Given the description of an element on the screen output the (x, y) to click on. 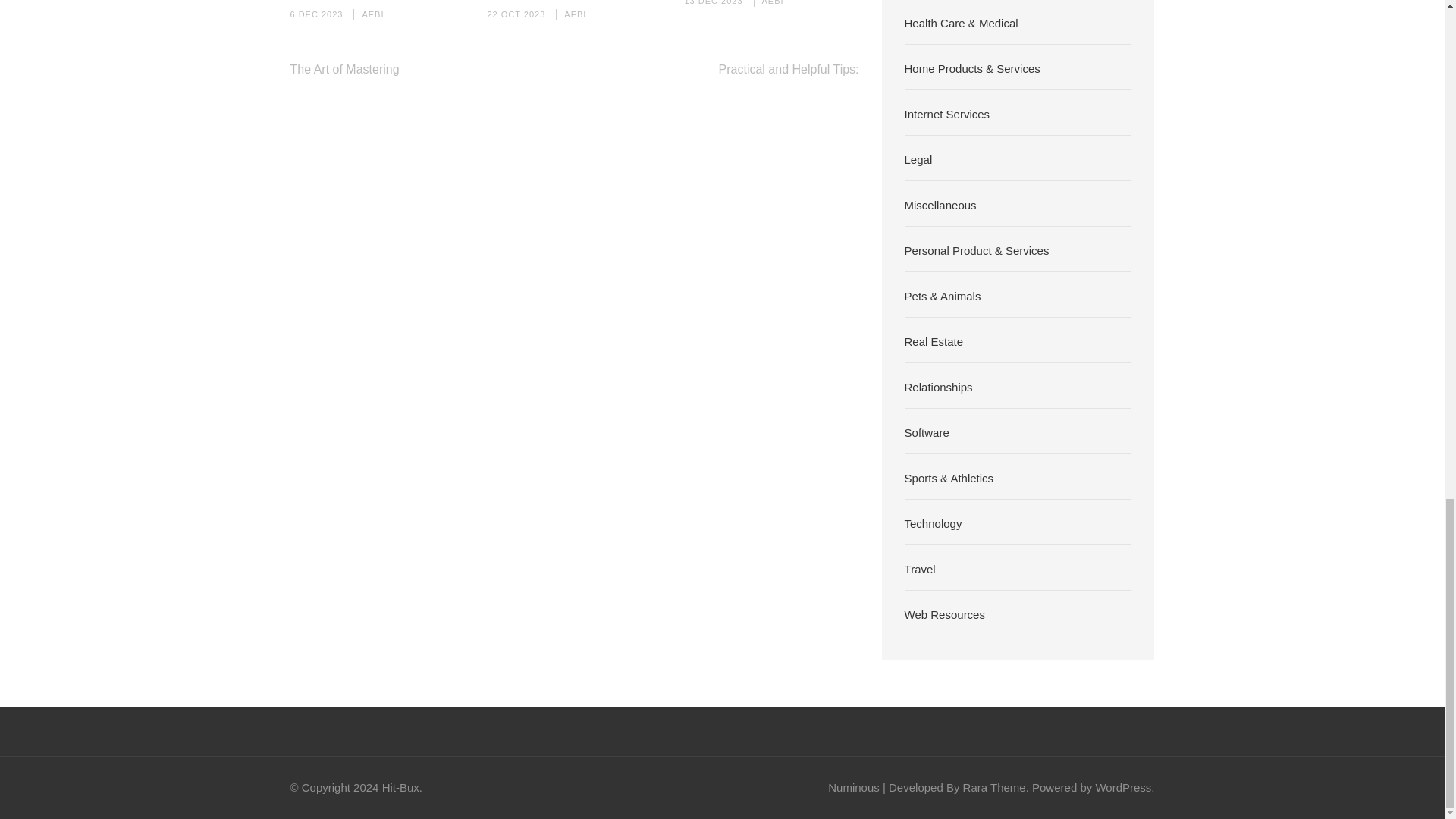
AEBI (772, 2)
Practical and Helpful Tips: (789, 69)
13 DEC 2023 (713, 2)
22 OCT 2023 (515, 13)
AEBI (575, 13)
AEBI (372, 13)
6 DEC 2023 (315, 13)
The Art of Mastering (343, 69)
